Given the description of an element on the screen output the (x, y) to click on. 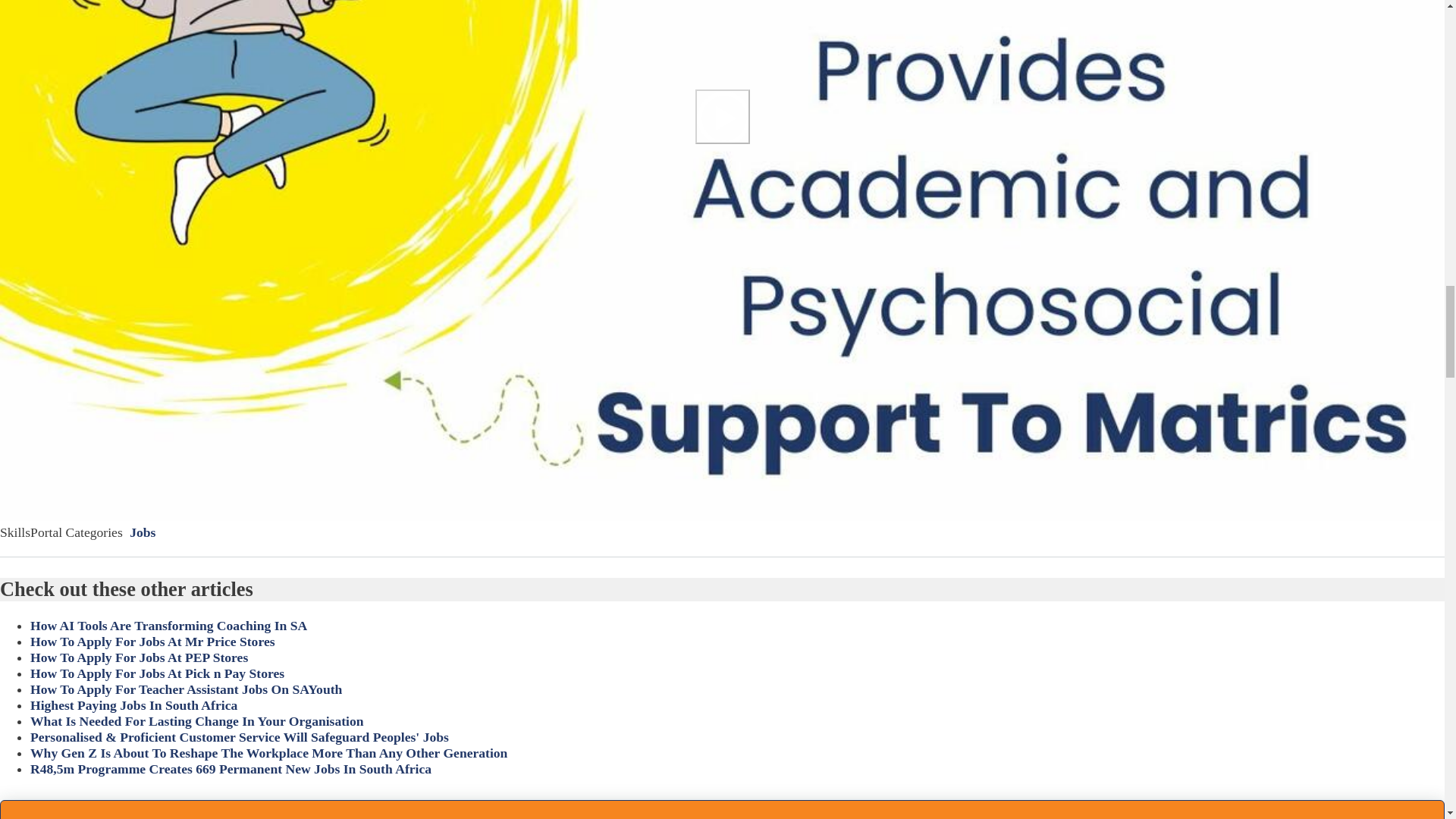
Jobs (142, 531)
How To Apply For Jobs At PEP Stores (138, 657)
How To Apply For Jobs At Mr Price Stores (152, 641)
How To Apply For Teacher Assistant Jobs On SAYouth (186, 688)
What Is Needed For Lasting Change In Your Organisation (197, 720)
Highest Paying Jobs In South Africa (133, 704)
How To Apply For Jobs At Pick n Pay Stores (156, 672)
How AI Tools Are Transforming Coaching In SA (168, 625)
